Given the description of an element on the screen output the (x, y) to click on. 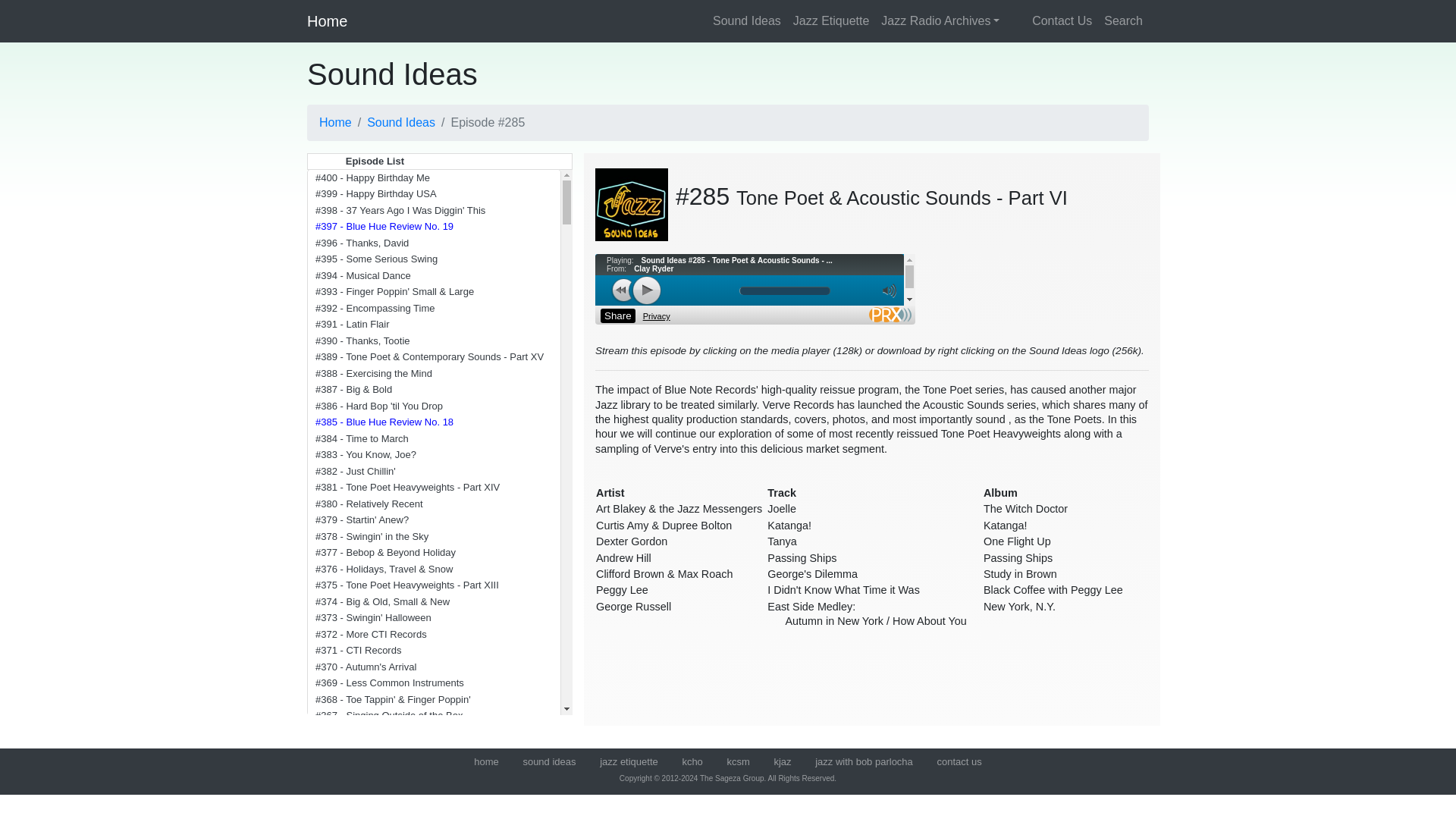
Home (335, 122)
KCSM archives (737, 761)
Home (327, 20)
Jazz Etiquette (628, 761)
Jazz with Bob Parlocha (863, 761)
Home (486, 761)
Jazz Radio Archives (940, 20)
Jazz Etiquette (831, 20)
KJAZ archives (781, 761)
Sound Ideas (400, 122)
Contact Us (958, 761)
KCHO archives (691, 761)
      Contact Us (1051, 20)
Sound Ideas (746, 20)
Sound Ideas (548, 761)
